Given the description of an element on the screen output the (x, y) to click on. 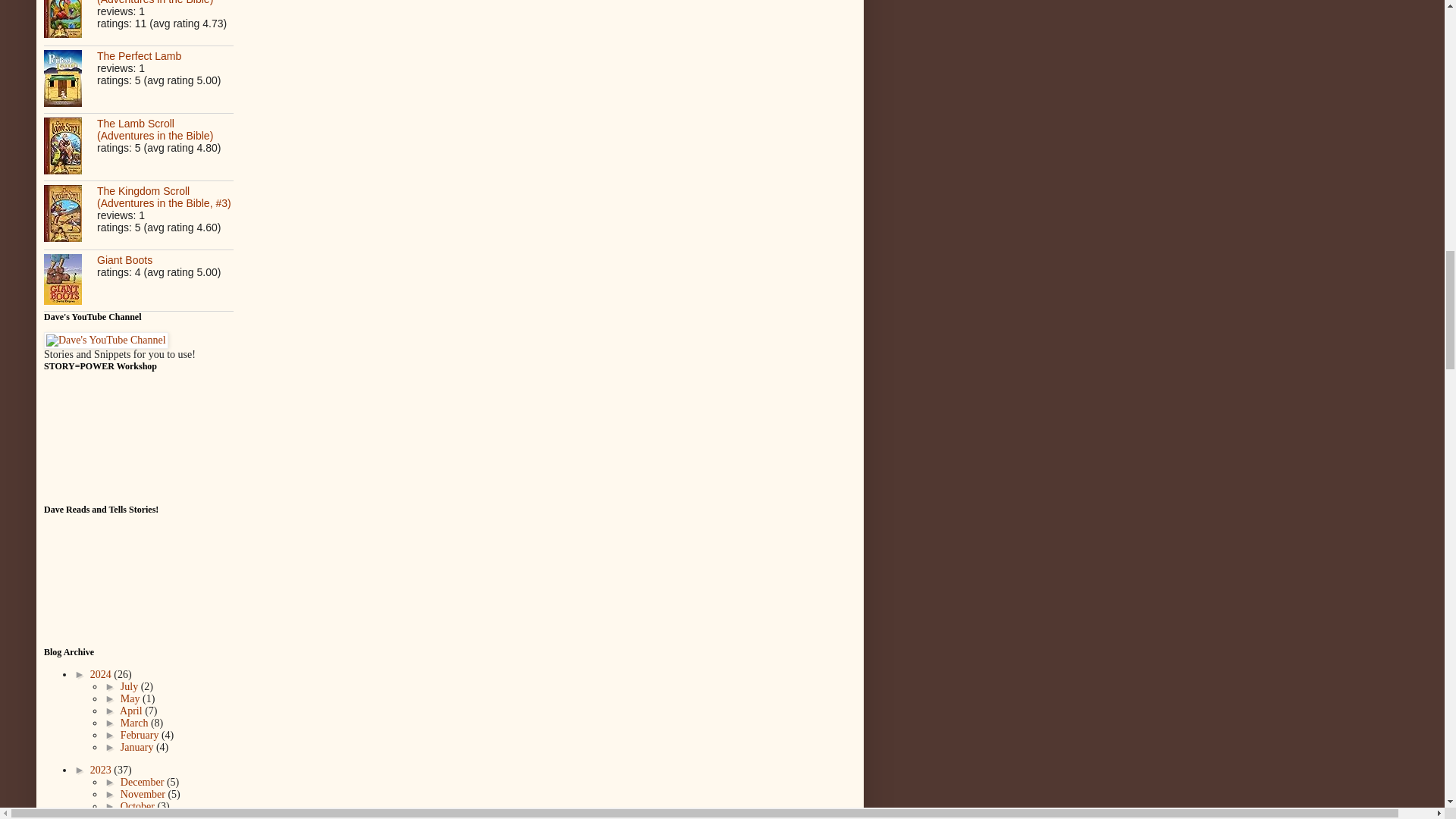
The Perfect Lamb (138, 55)
